Given the description of an element on the screen output the (x, y) to click on. 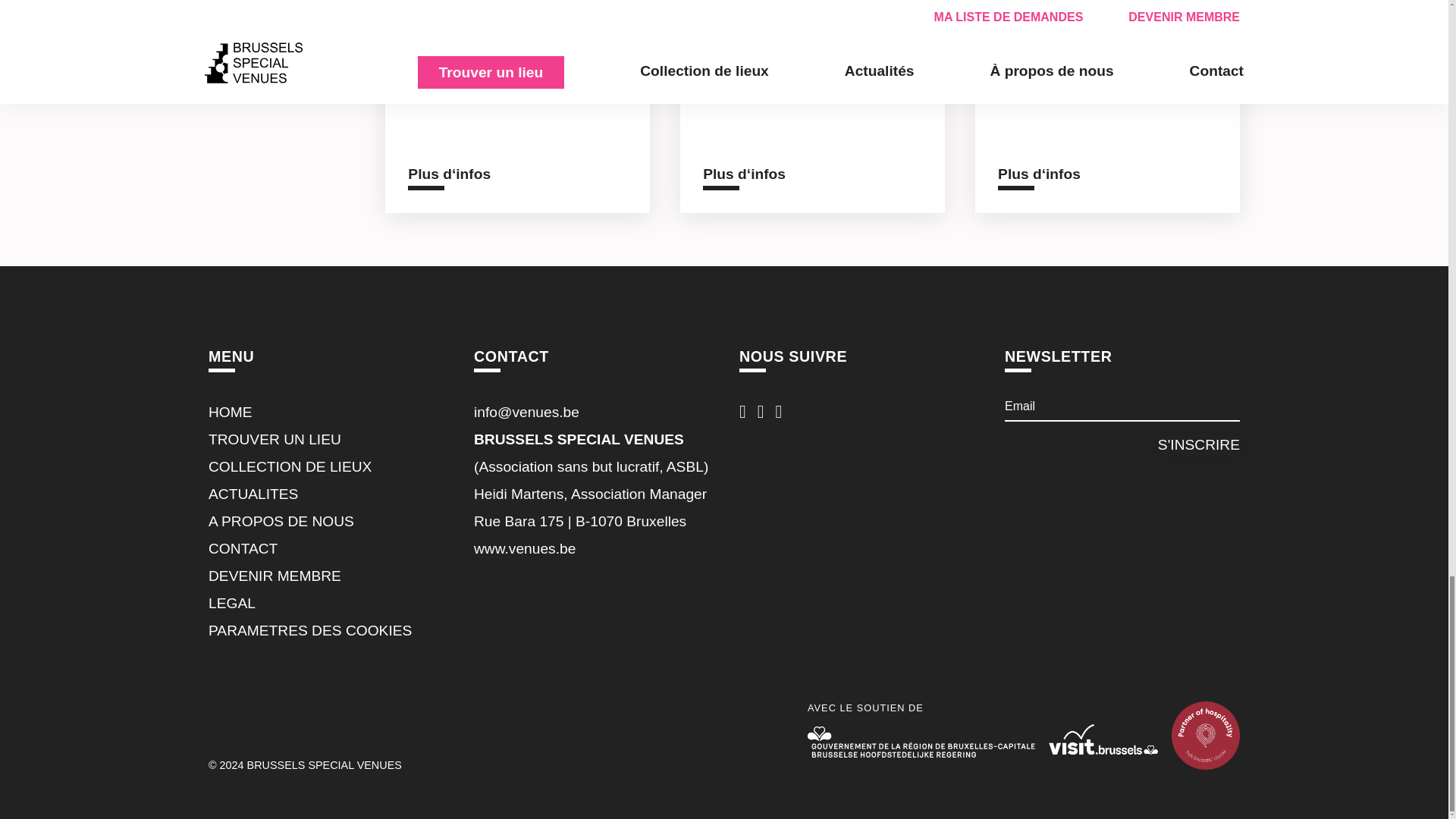
www.venues.be (524, 548)
COLLECTION DE LIEUX (289, 466)
LEGAL (232, 602)
DEVENIR MEMBRE (274, 575)
A PROPOS DE NOUS (280, 521)
TROUVER UN LIEU (274, 439)
S'INSCRIRE (1198, 444)
HOME (229, 412)
ACTUALITES (253, 494)
CONTACT (243, 548)
PARAMETRES DES COOKIES (310, 630)
